Given the description of an element on the screen output the (x, y) to click on. 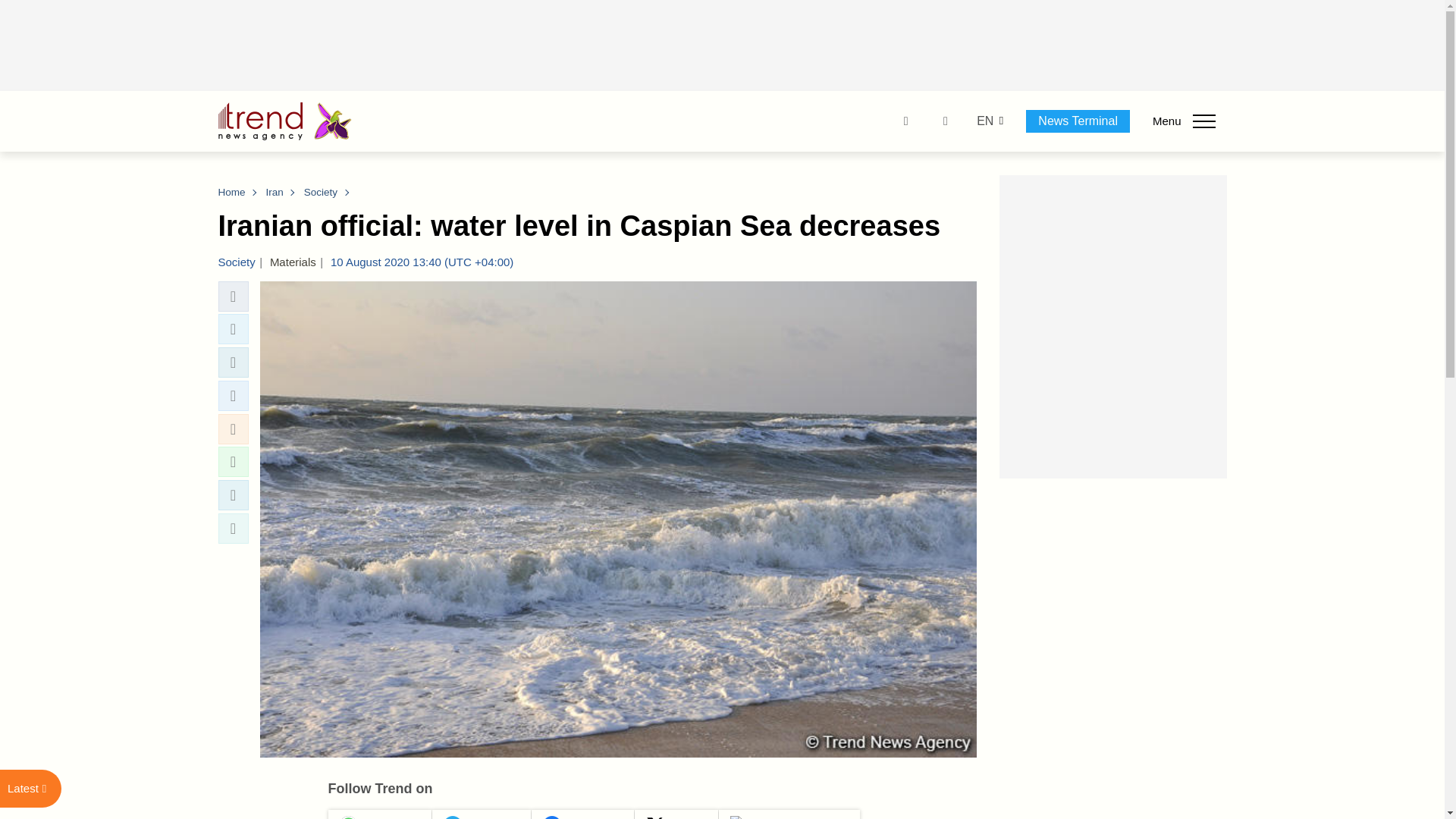
News Terminal (1077, 120)
English (984, 121)
EN (984, 121)
